Given the description of an element on the screen output the (x, y) to click on. 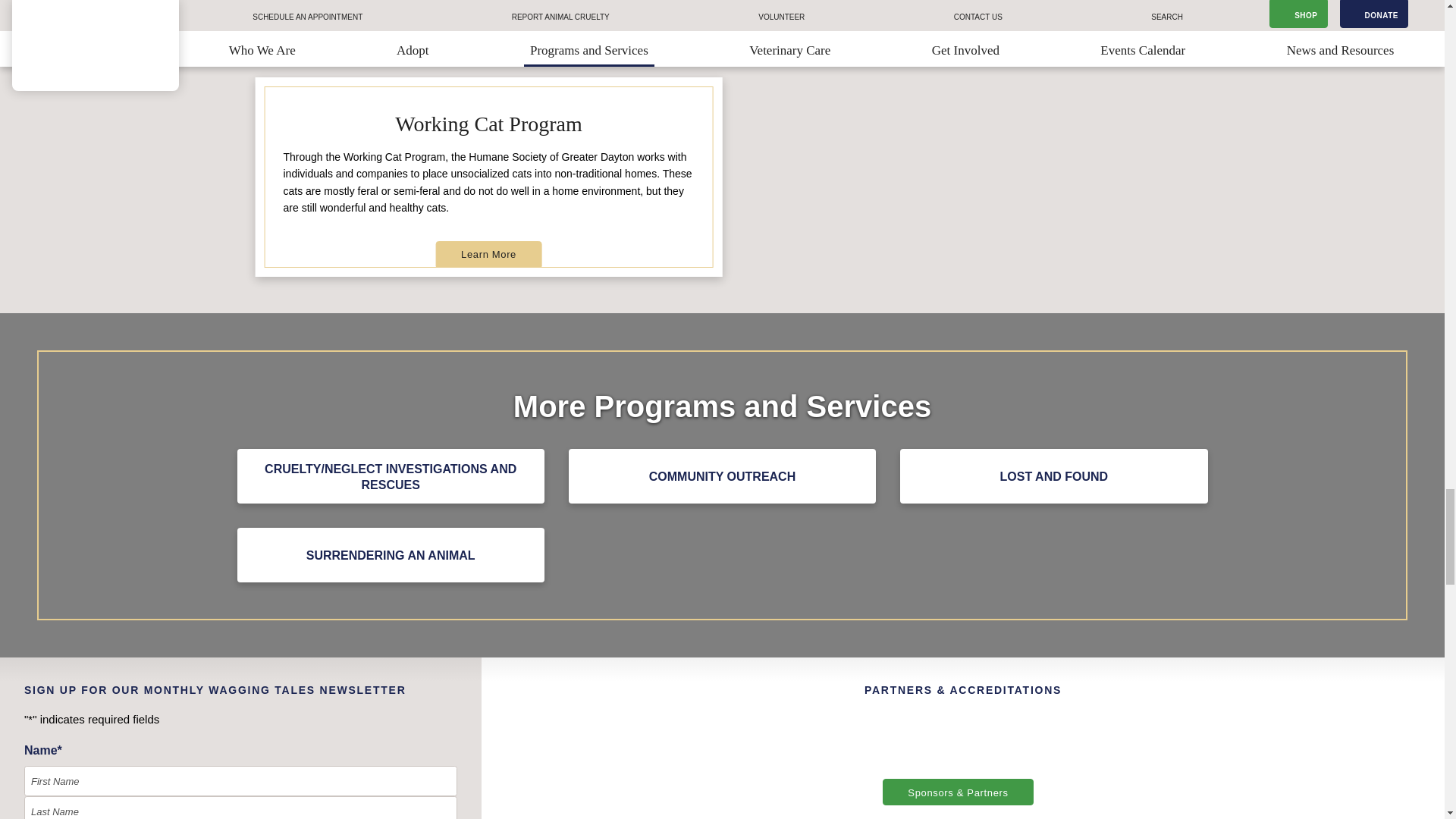
COMMUNITY OUTREACH (722, 475)
LOST AND FOUND (1053, 475)
Learn More (488, 253)
SURRENDERING AN ANIMAL (389, 554)
